Given the description of an element on the screen output the (x, y) to click on. 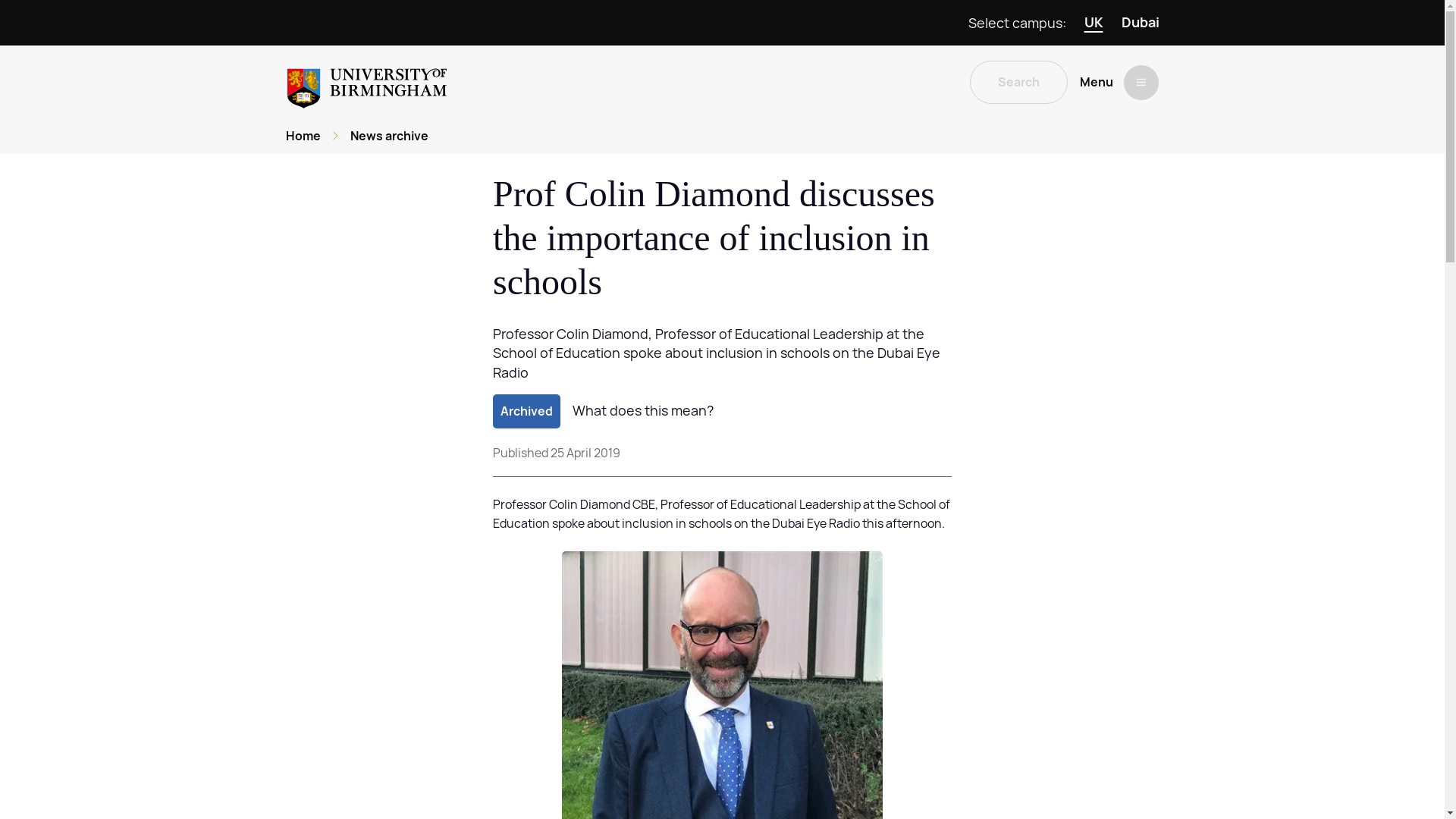
Dubai (1139, 22)
Professor Colin Diamond CBE (574, 504)
Search (1018, 81)
Home (302, 136)
What does this mean? (642, 410)
UK (1093, 22)
News archive (389, 136)
